Given the description of an element on the screen output the (x, y) to click on. 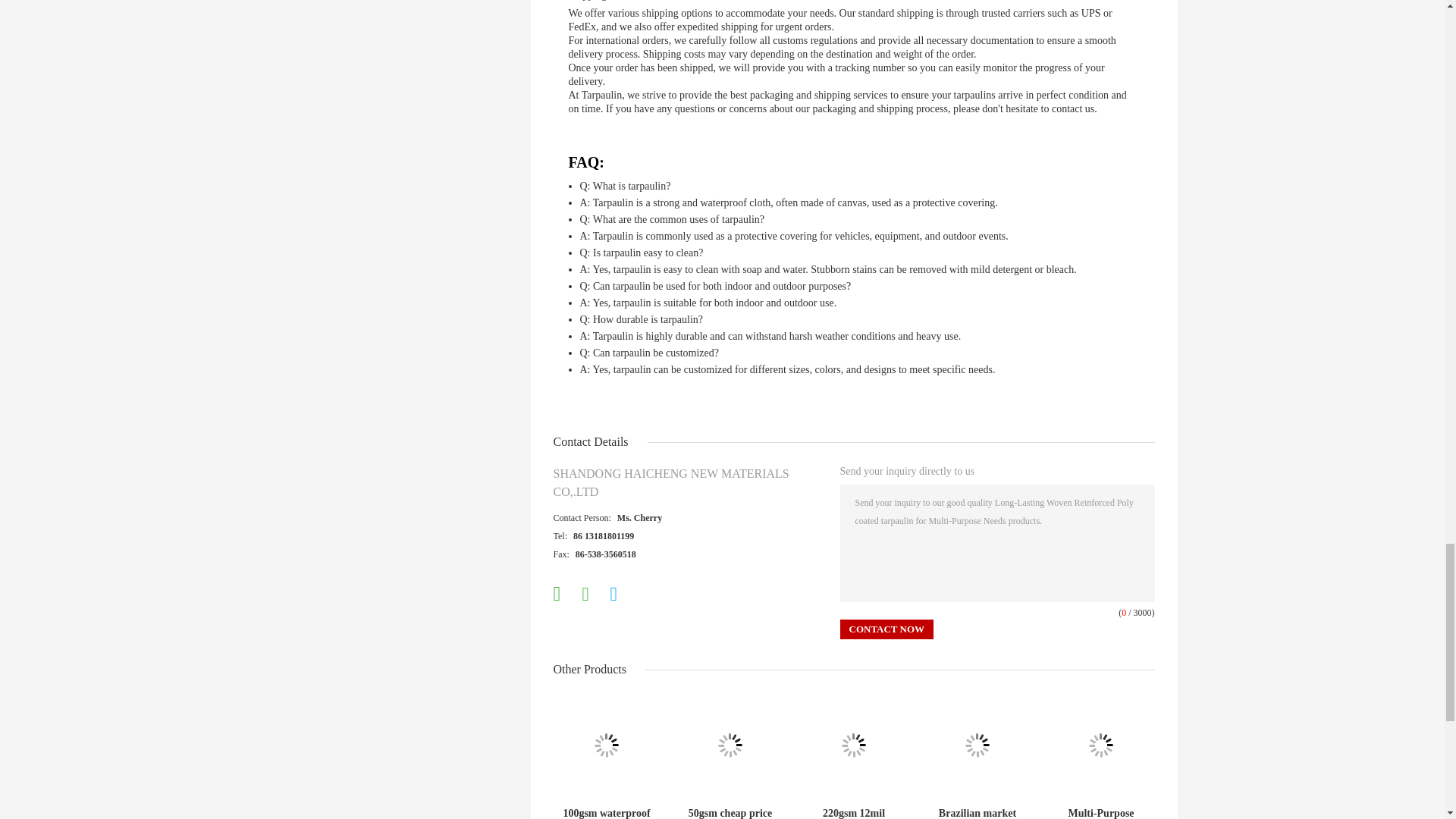
Contact Now (887, 629)
